Given the description of an element on the screen output the (x, y) to click on. 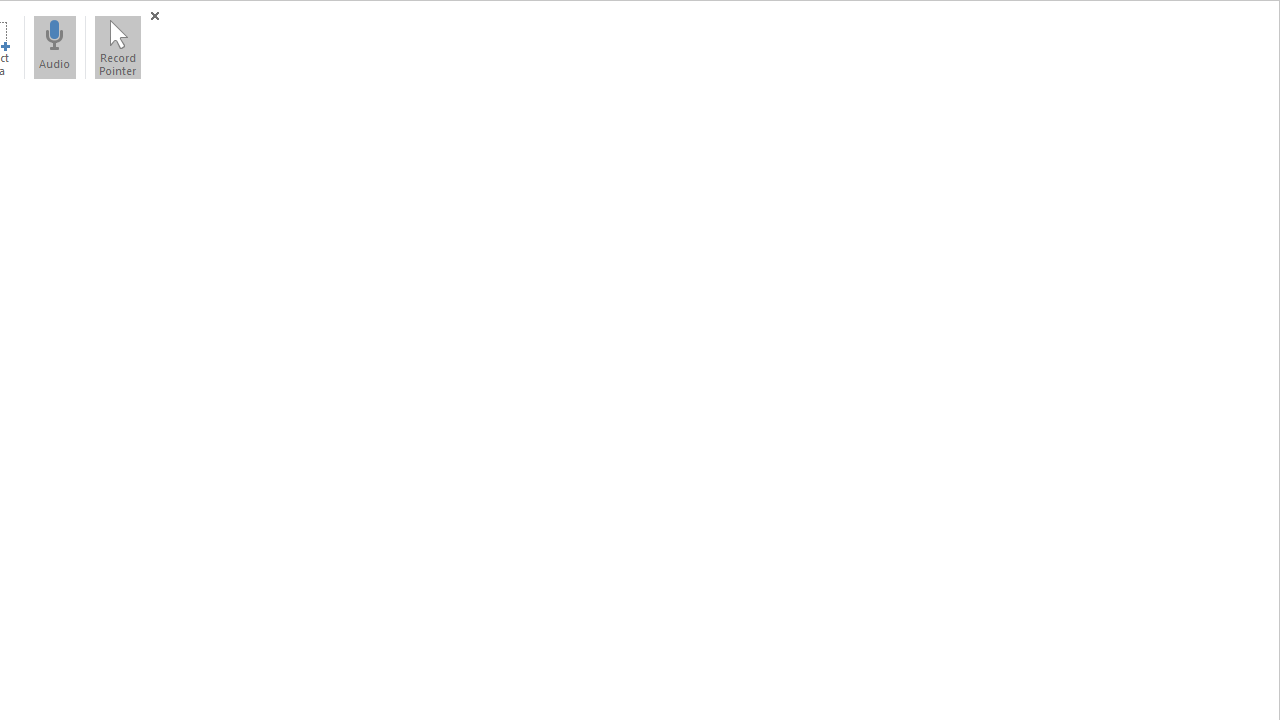
Close (Windows logo key+Shift+Q) (154, 16)
Record Pointer (117, 47)
